Given the description of an element on the screen output the (x, y) to click on. 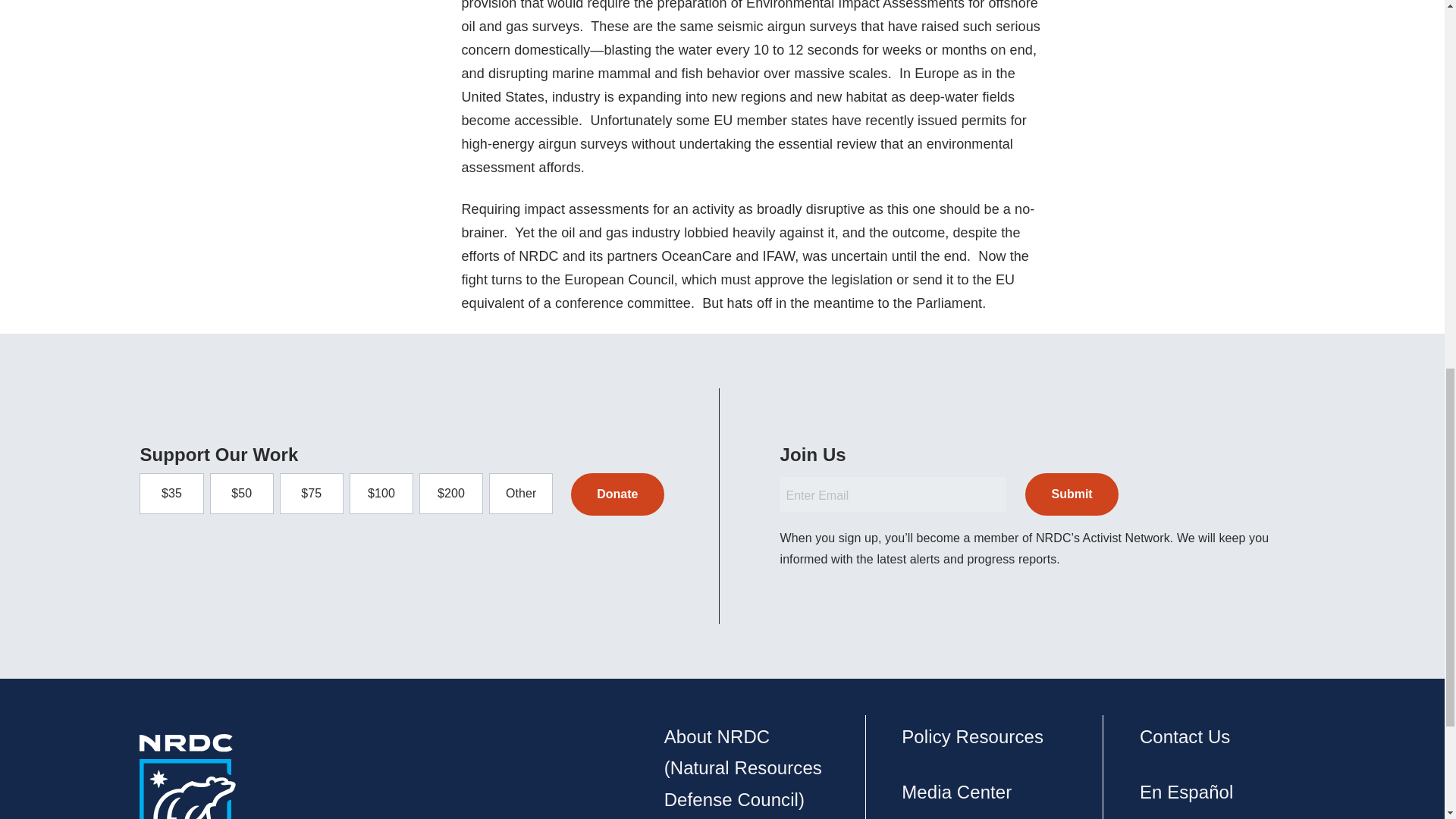
NRDC Logo (187, 776)
